Given the description of an element on the screen output the (x, y) to click on. 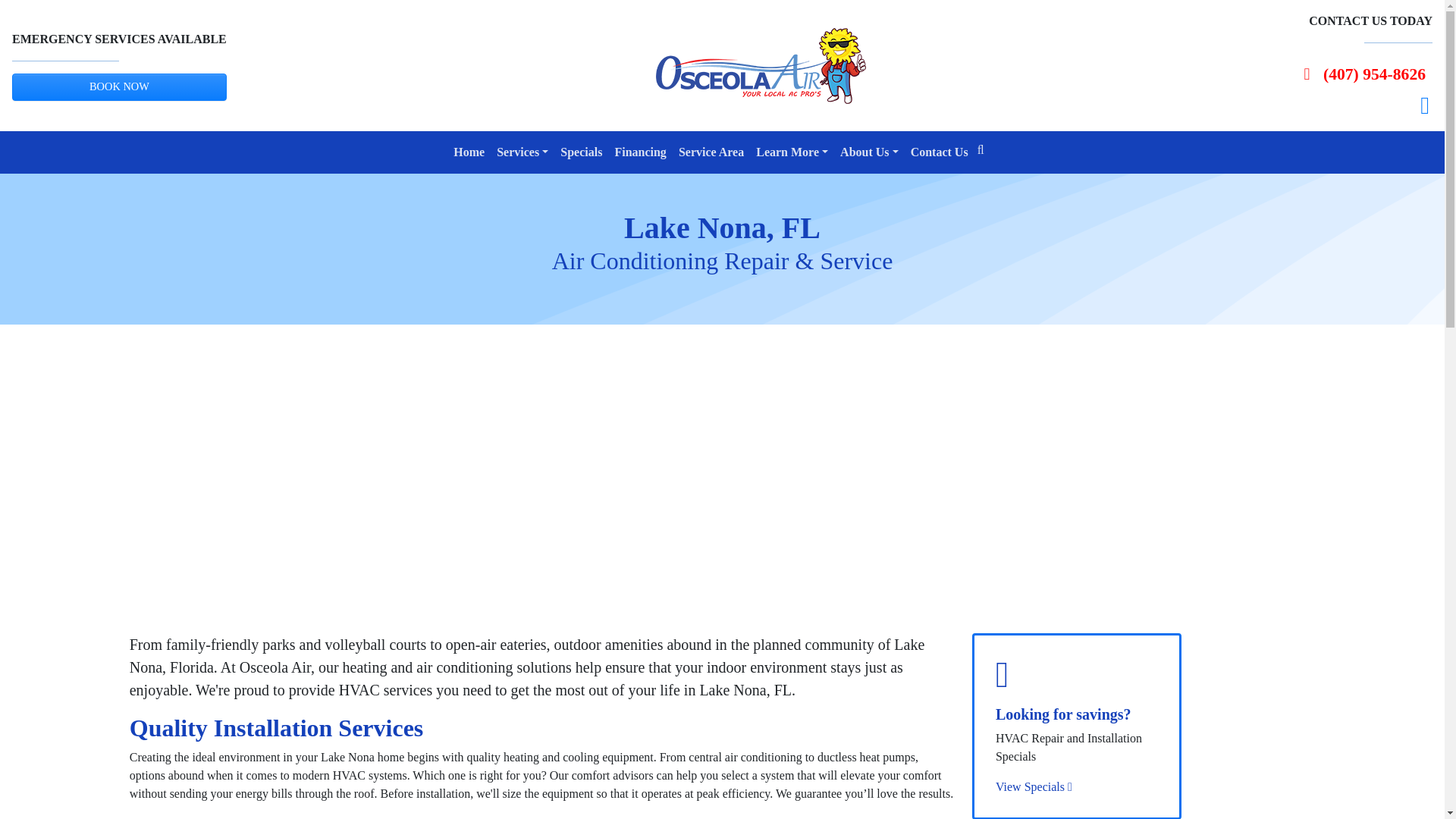
About Us (869, 152)
Home (468, 152)
Contact Us (939, 152)
Specials (581, 152)
BOOK NOW (119, 86)
Learn More (791, 152)
View Specials (1033, 786)
Service Area (710, 152)
Financing (639, 152)
Services (522, 152)
